Given the description of an element on the screen output the (x, y) to click on. 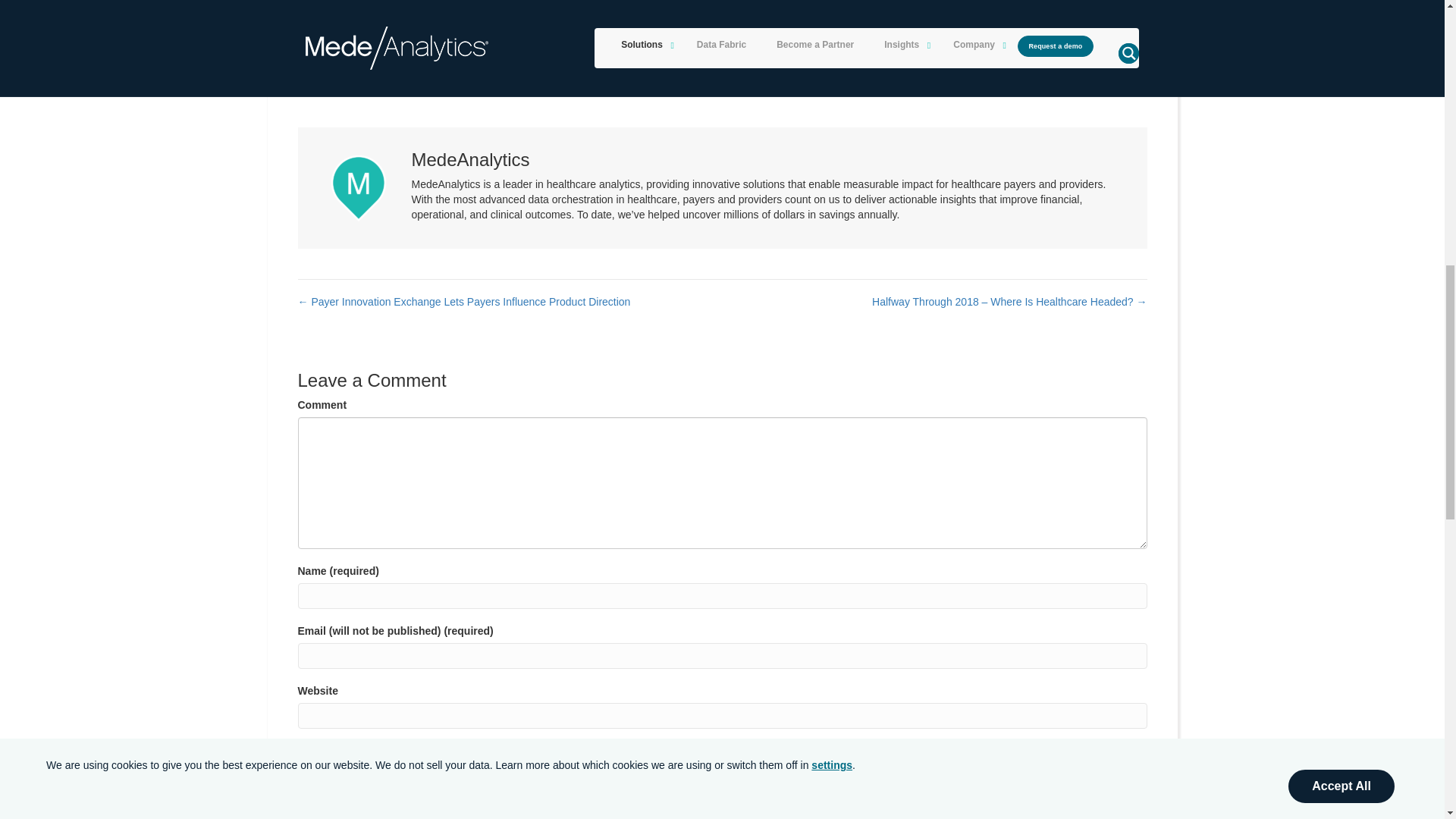
Submit Comment (358, 786)
yes (302, 751)
